Given the description of an element on the screen output the (x, y) to click on. 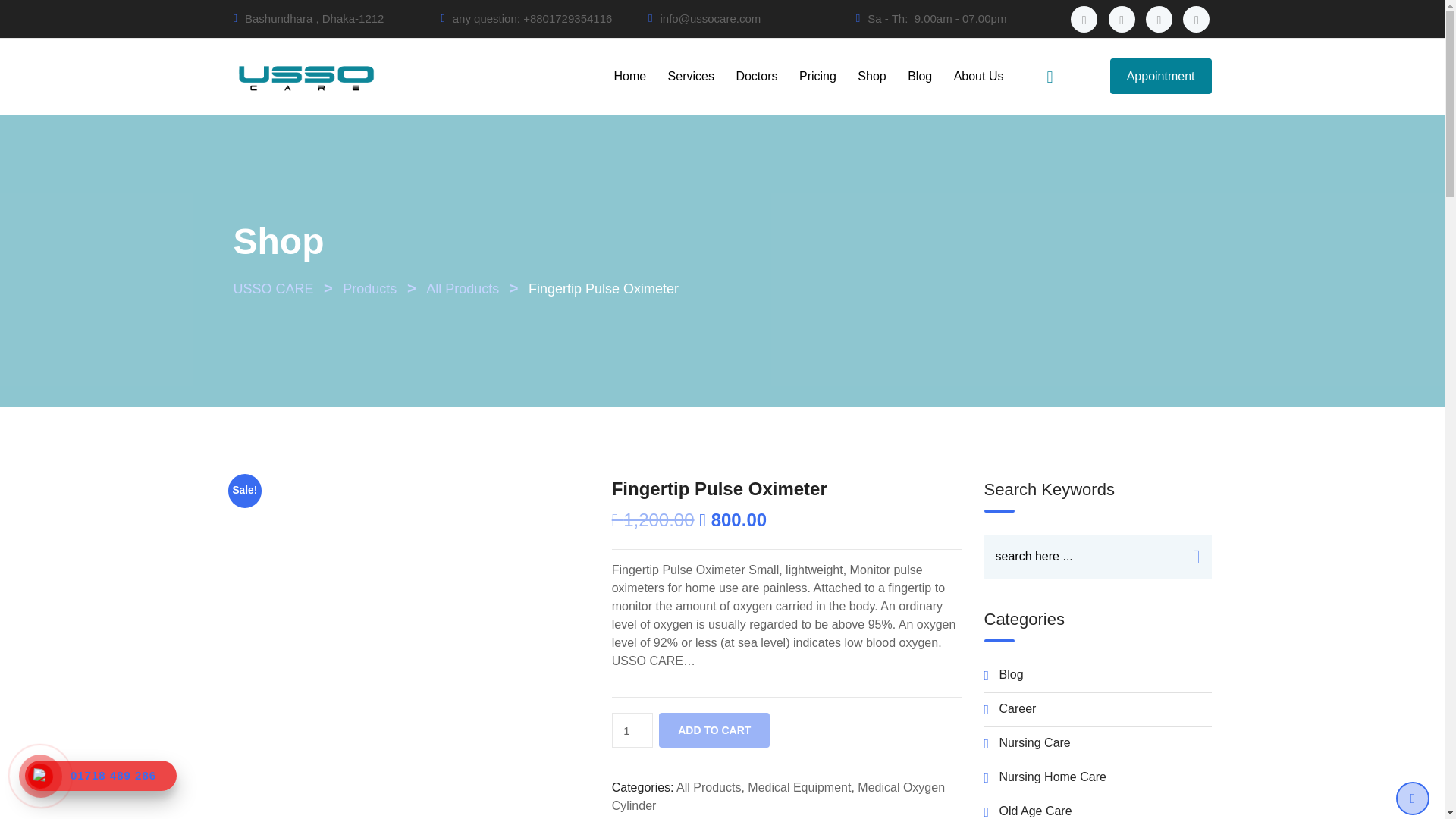
Appointment (1160, 76)
Go to Products. (369, 288)
Appointment (1160, 76)
Go to USSO CARE. (273, 288)
About Us (978, 76)
1 (631, 729)
Go to the All Products Category archives. (462, 288)
